Given the description of an element on the screen output the (x, y) to click on. 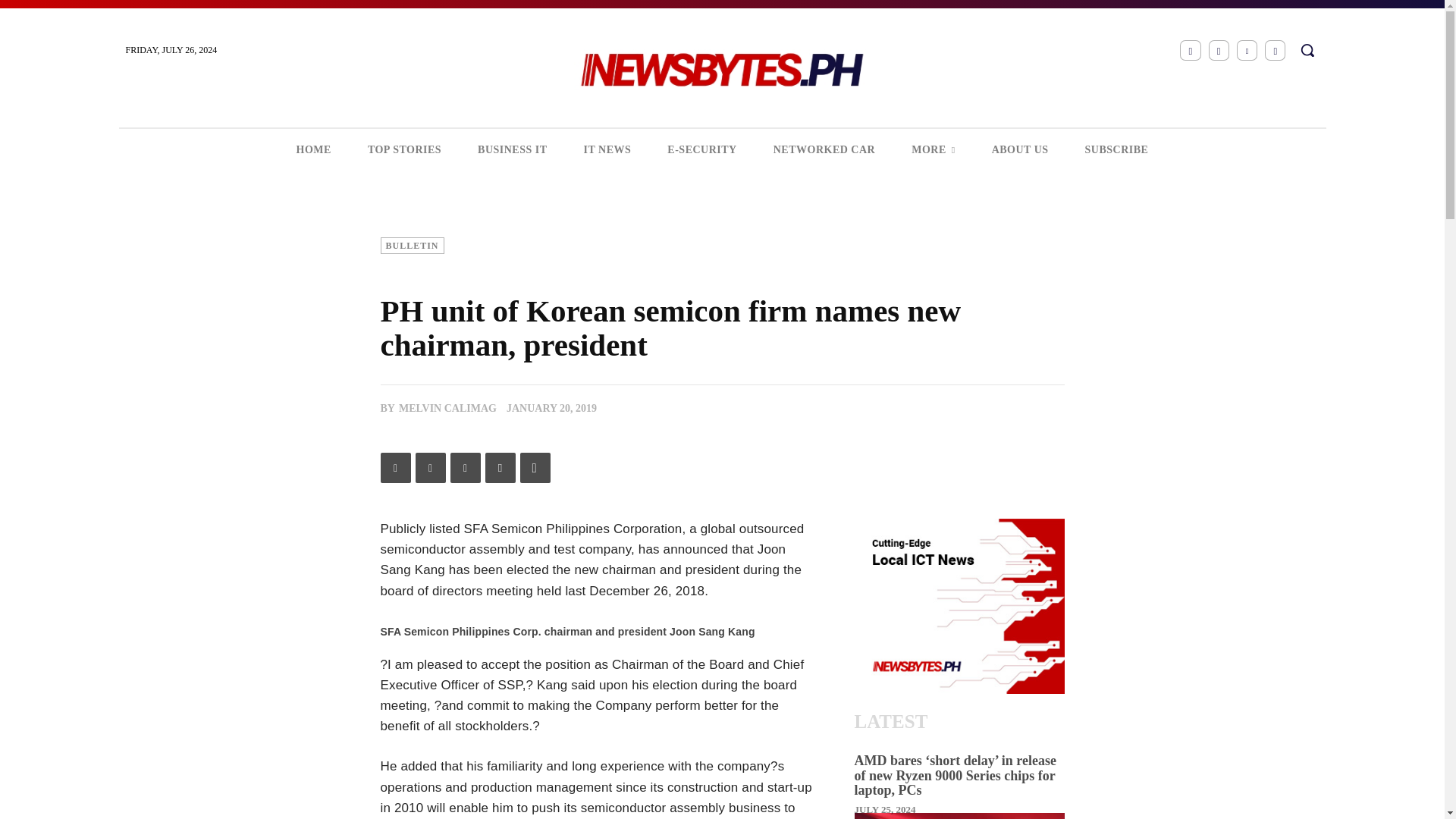
Twitter (1275, 50)
Email (499, 467)
E-SECURITY (701, 149)
NETWORKED CAR (824, 149)
Linkedin (1246, 50)
Twitter (429, 467)
Linkedin (464, 467)
Facebook (395, 467)
HOME (313, 149)
Instagram (1218, 50)
IT NEWS (607, 149)
Copy URL (534, 467)
TOP STORIES (404, 149)
Facebook (1189, 50)
BUSINESS IT (513, 149)
